Given the description of an element on the screen output the (x, y) to click on. 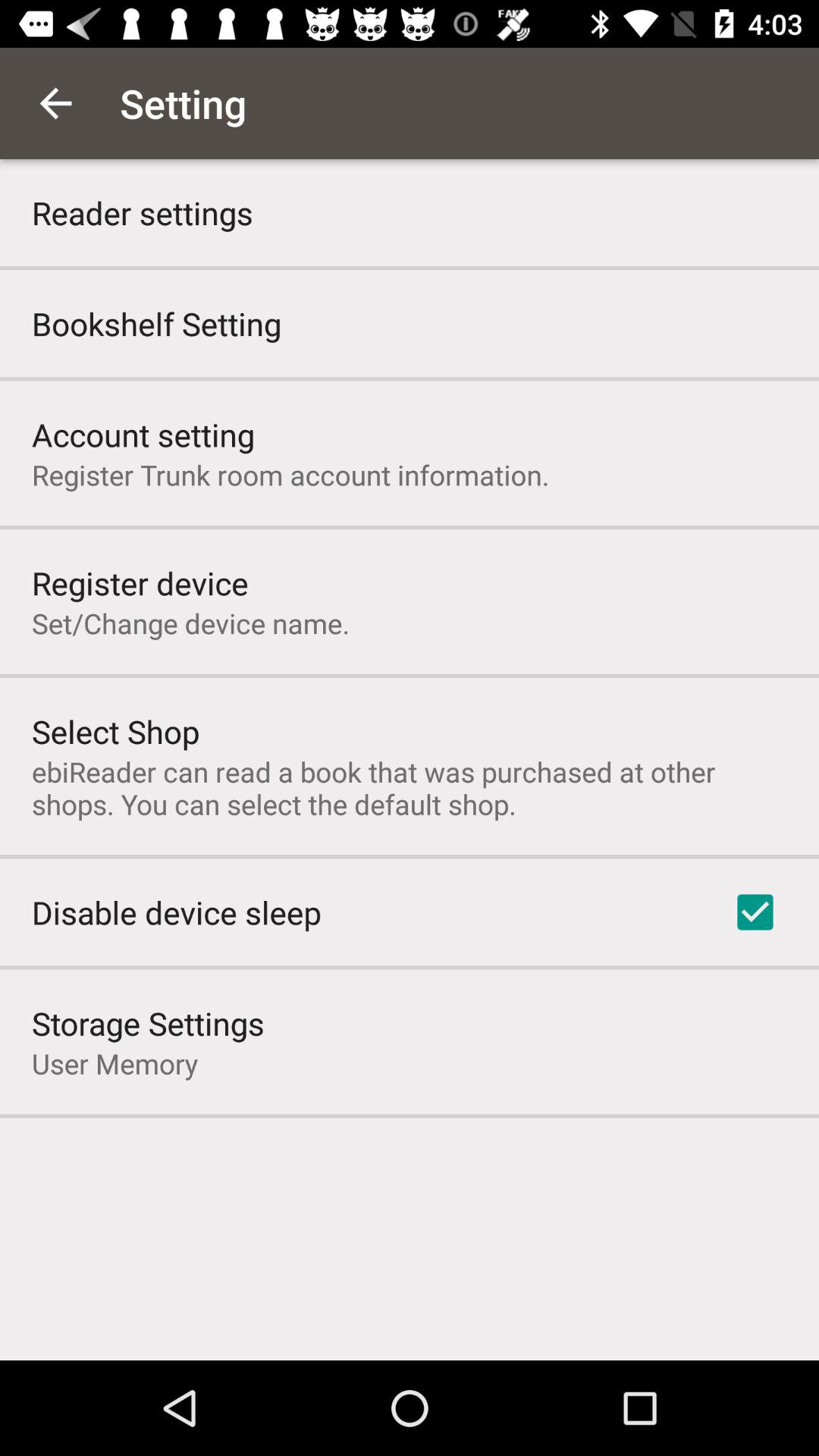
choose item at the center (409, 787)
